Given the description of an element on the screen output the (x, y) to click on. 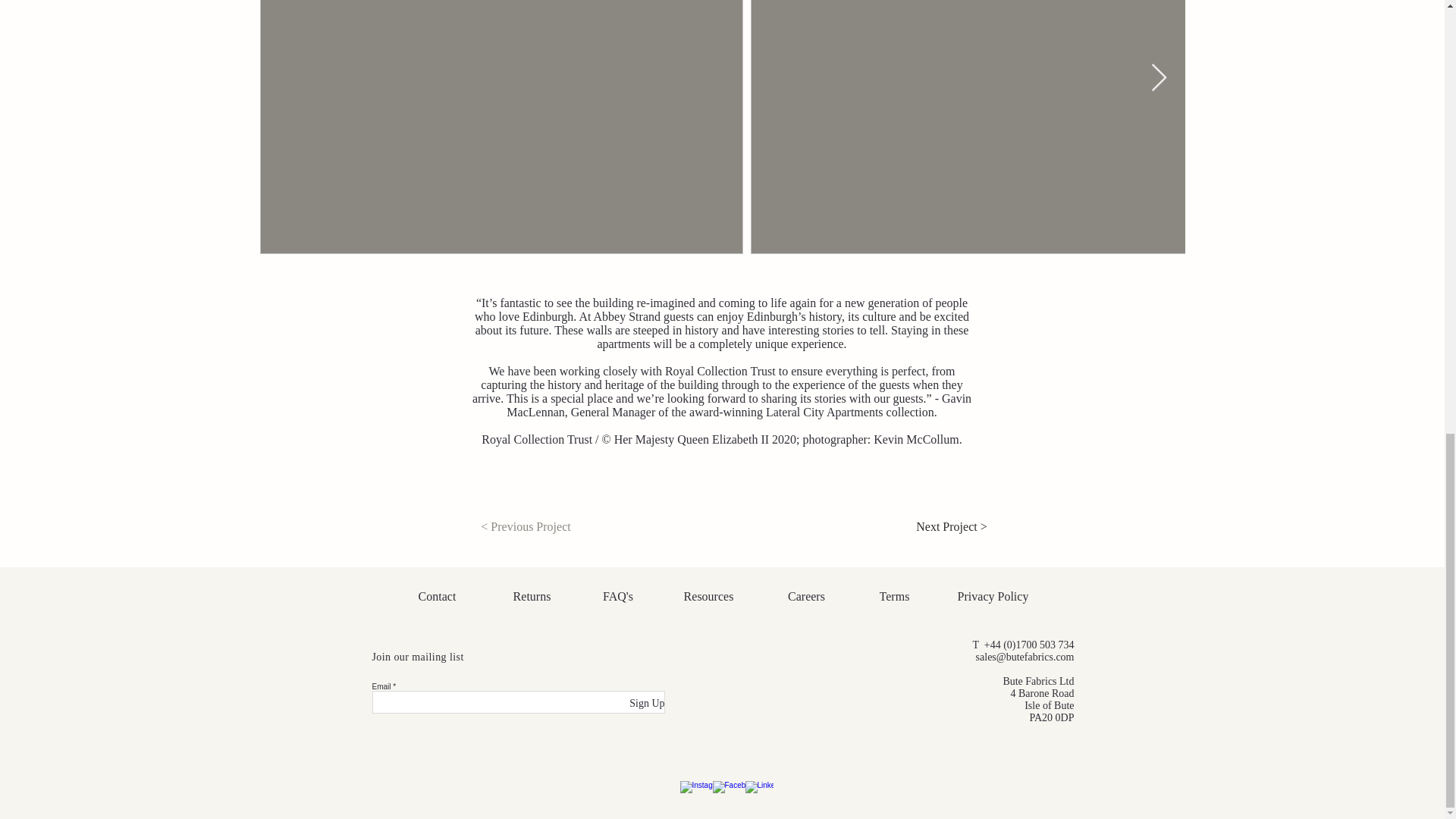
Resources (709, 596)
Contact (437, 596)
Careers (805, 596)
FAQ's (617, 596)
Terms (893, 596)
Sign Up (626, 704)
Returns (531, 596)
Privacy Policy (992, 596)
